Given the description of an element on the screen output the (x, y) to click on. 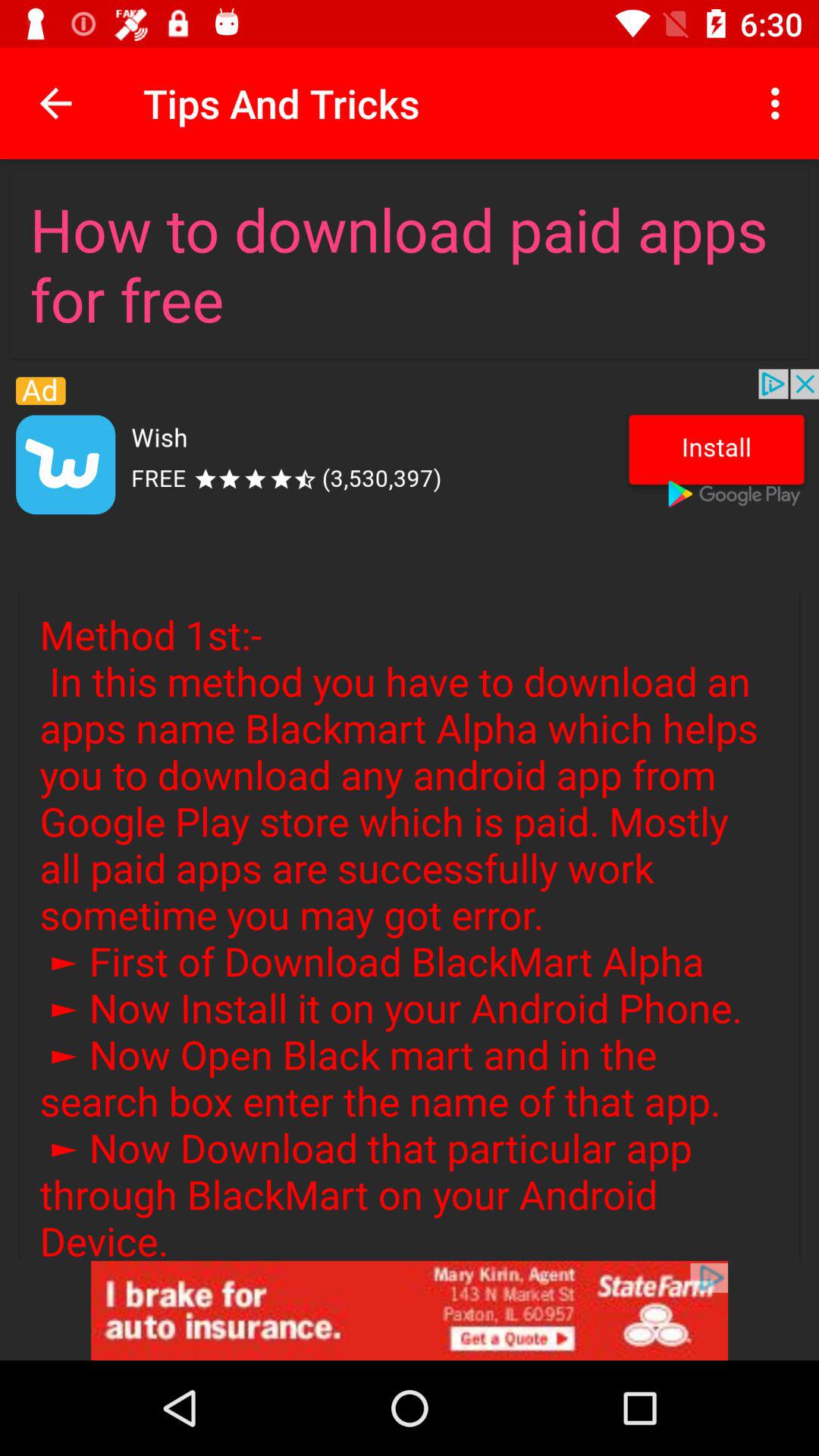
advertisement link (409, 1310)
